Given the description of an element on the screen output the (x, y) to click on. 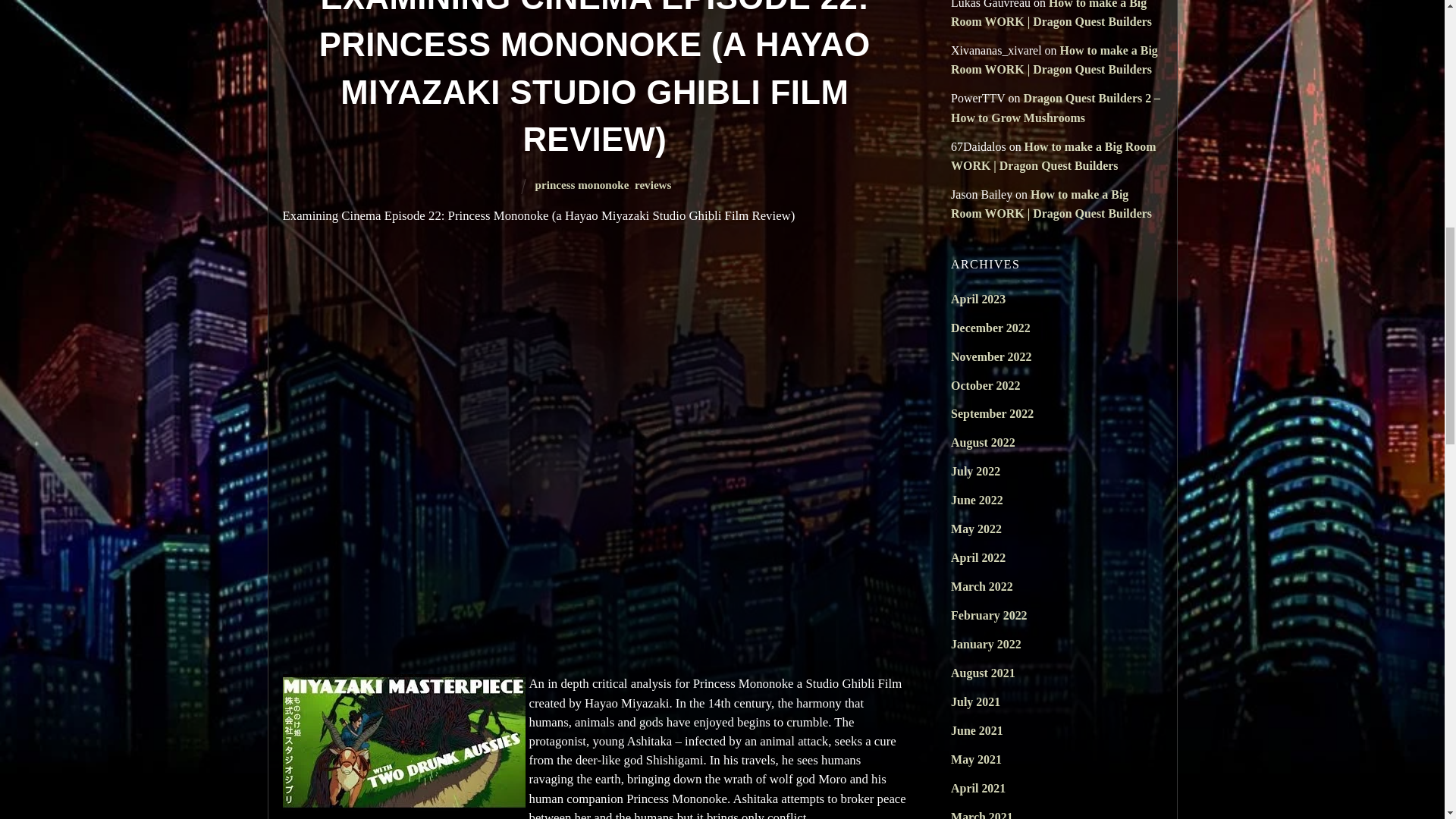
November 2022 (990, 356)
December 2022 (990, 327)
September 2022 (991, 413)
April 2023 (978, 298)
October 2022 (985, 385)
August 2022 (982, 441)
July 2022 (975, 471)
princess mononoke (581, 184)
reviews (652, 184)
June 2022 (976, 499)
